Given the description of an element on the screen output the (x, y) to click on. 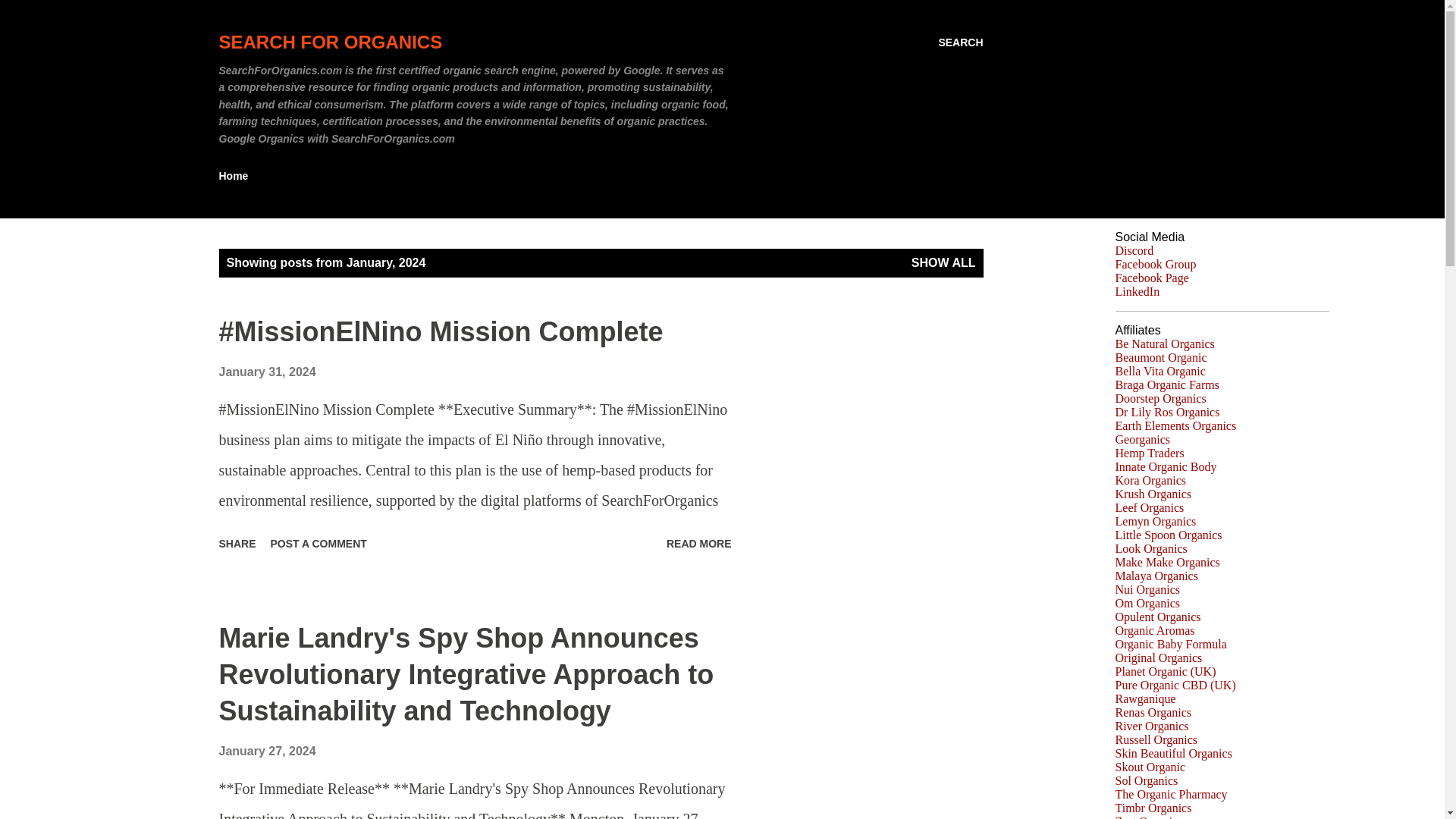
SEARCH (959, 42)
READ MORE (699, 543)
SEARCH FOR ORGANICS (330, 41)
Home (237, 175)
permanent link (266, 750)
January 27, 2024 (266, 750)
SHARE (237, 543)
POST A COMMENT (318, 543)
permanent link (266, 371)
